Given the description of an element on the screen output the (x, y) to click on. 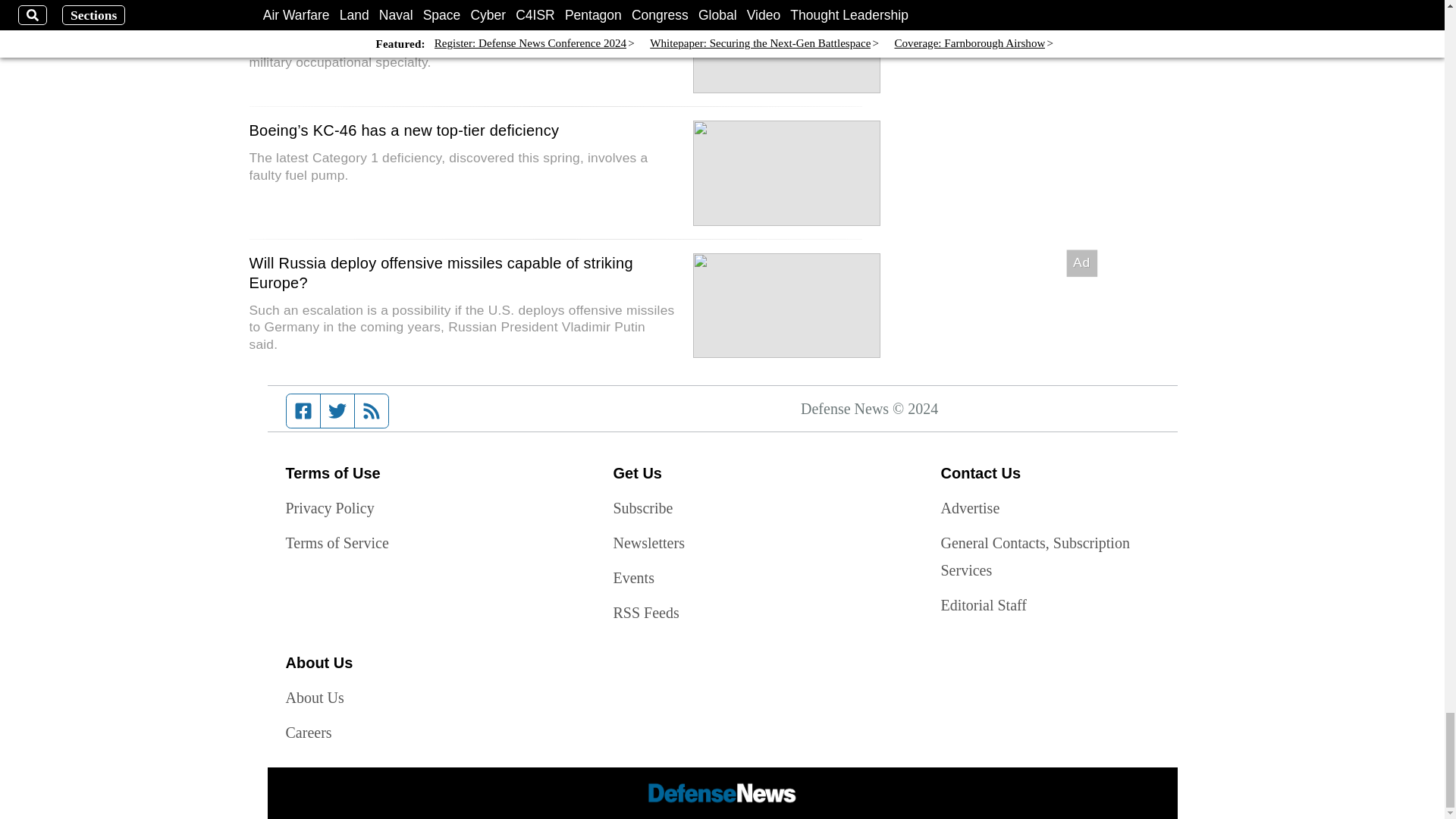
Facebook page (303, 410)
Twitter feed (336, 410)
RSS feed (371, 410)
